Given the description of an element on the screen output the (x, y) to click on. 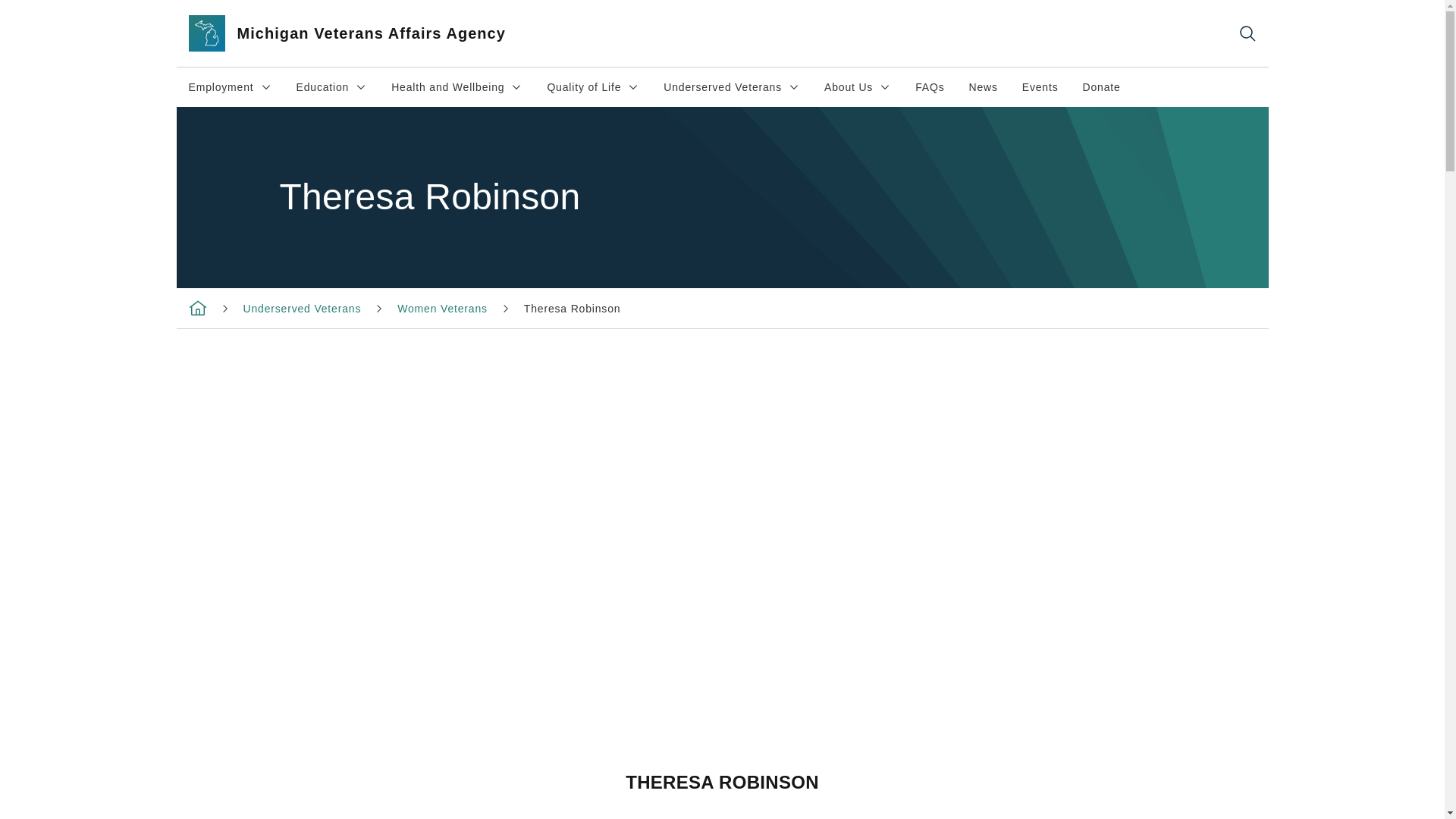
MVAA (196, 307)
Michigan Veterans Affairs Agency (364, 33)
Theresa Robinson (572, 308)
News (331, 87)
Events (982, 87)
Donate (229, 87)
Underserved Veterans (731, 87)
FAQs (1040, 87)
Women Veterans (1101, 87)
